Given the description of an element on the screen output the (x, y) to click on. 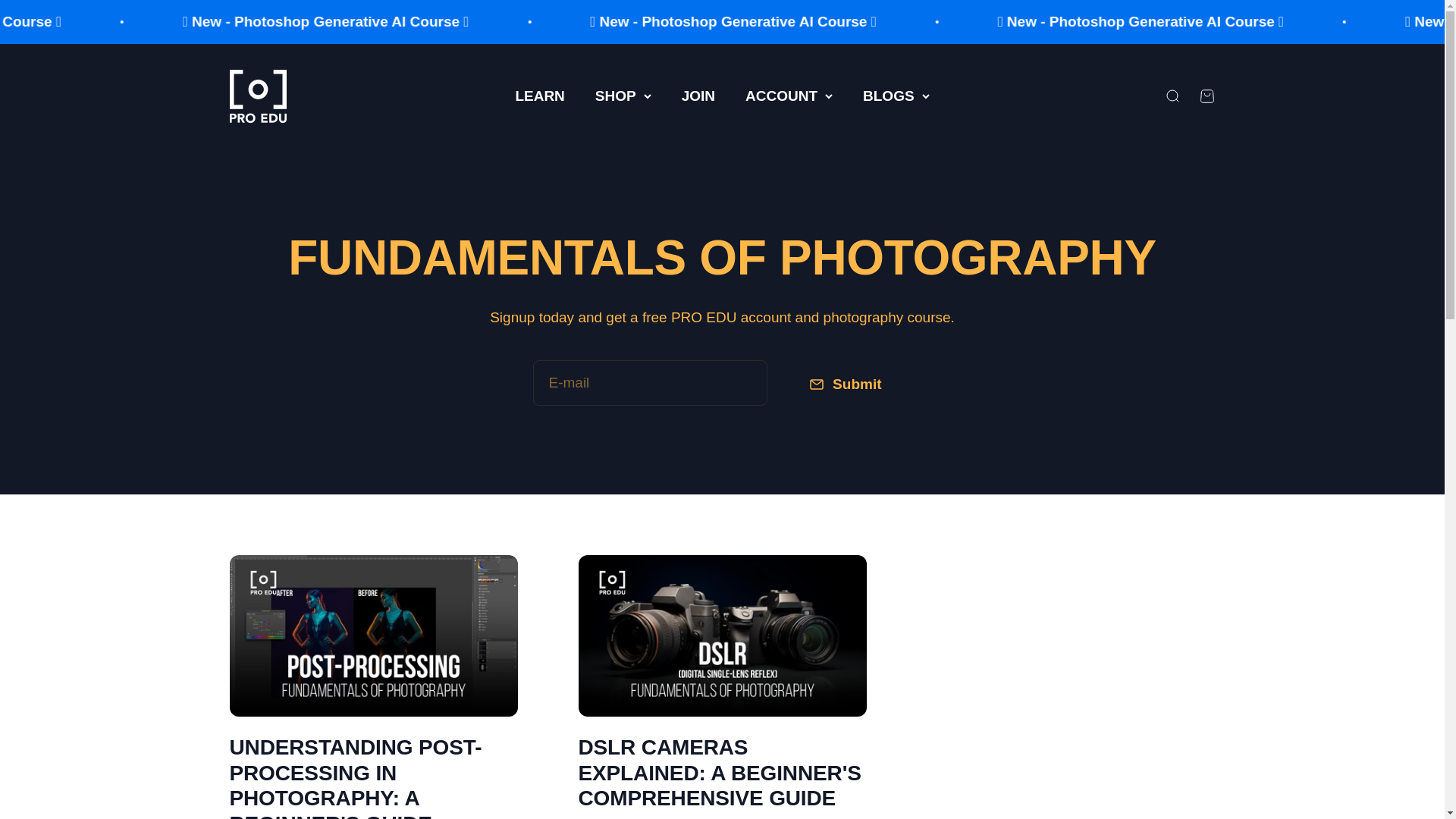
LEARN (539, 95)
PRO EDU (256, 95)
JOIN (697, 95)
Open search (1206, 95)
